Given the description of an element on the screen output the (x, y) to click on. 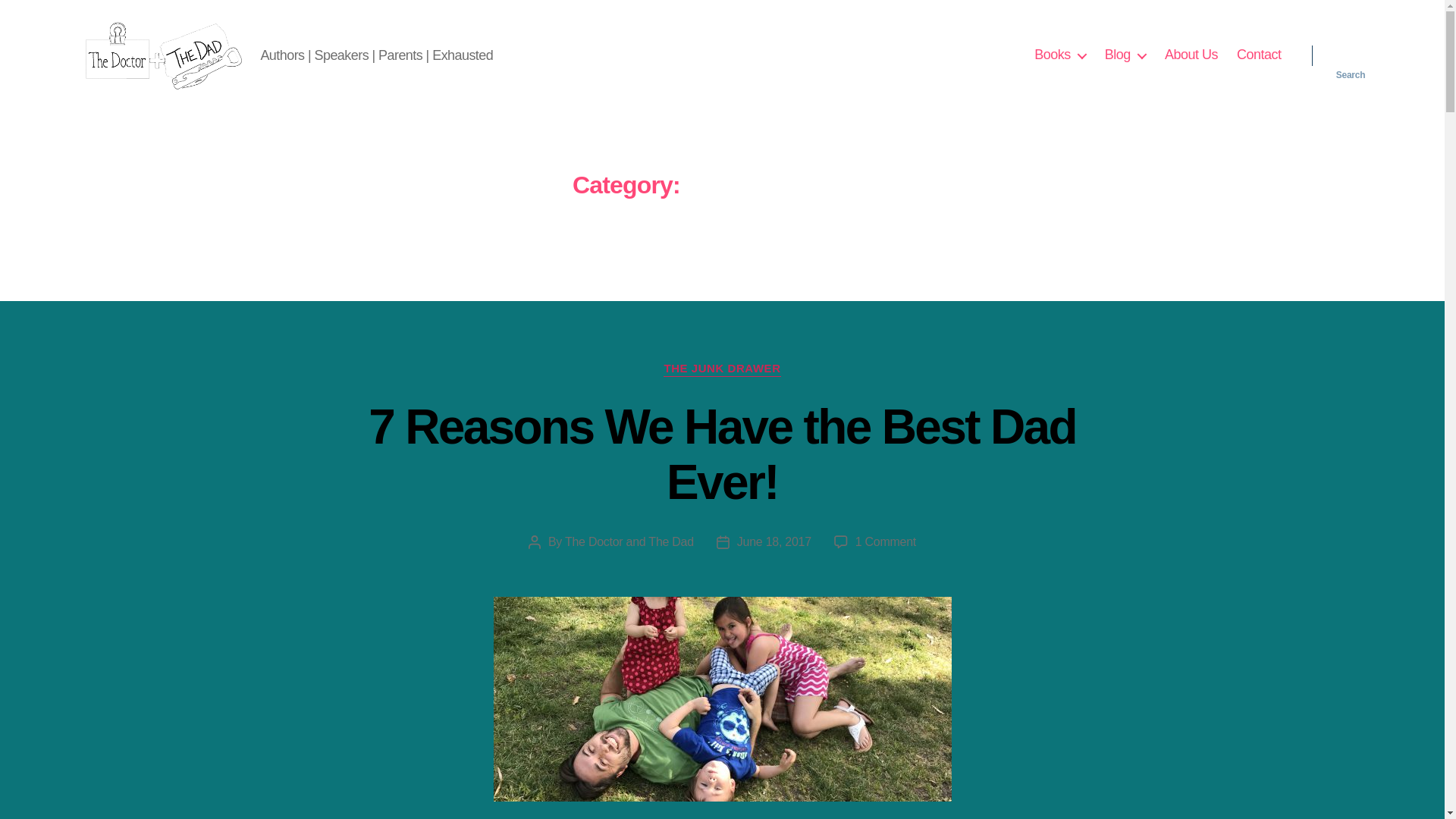
THE JUNK DRAWER (721, 368)
7 Reasons We Have the Best Dad Ever! (721, 454)
About Us (1190, 54)
Contact (1258, 54)
Search (1350, 55)
Blog (1125, 54)
Books (1059, 54)
